Given the description of an element on the screen output the (x, y) to click on. 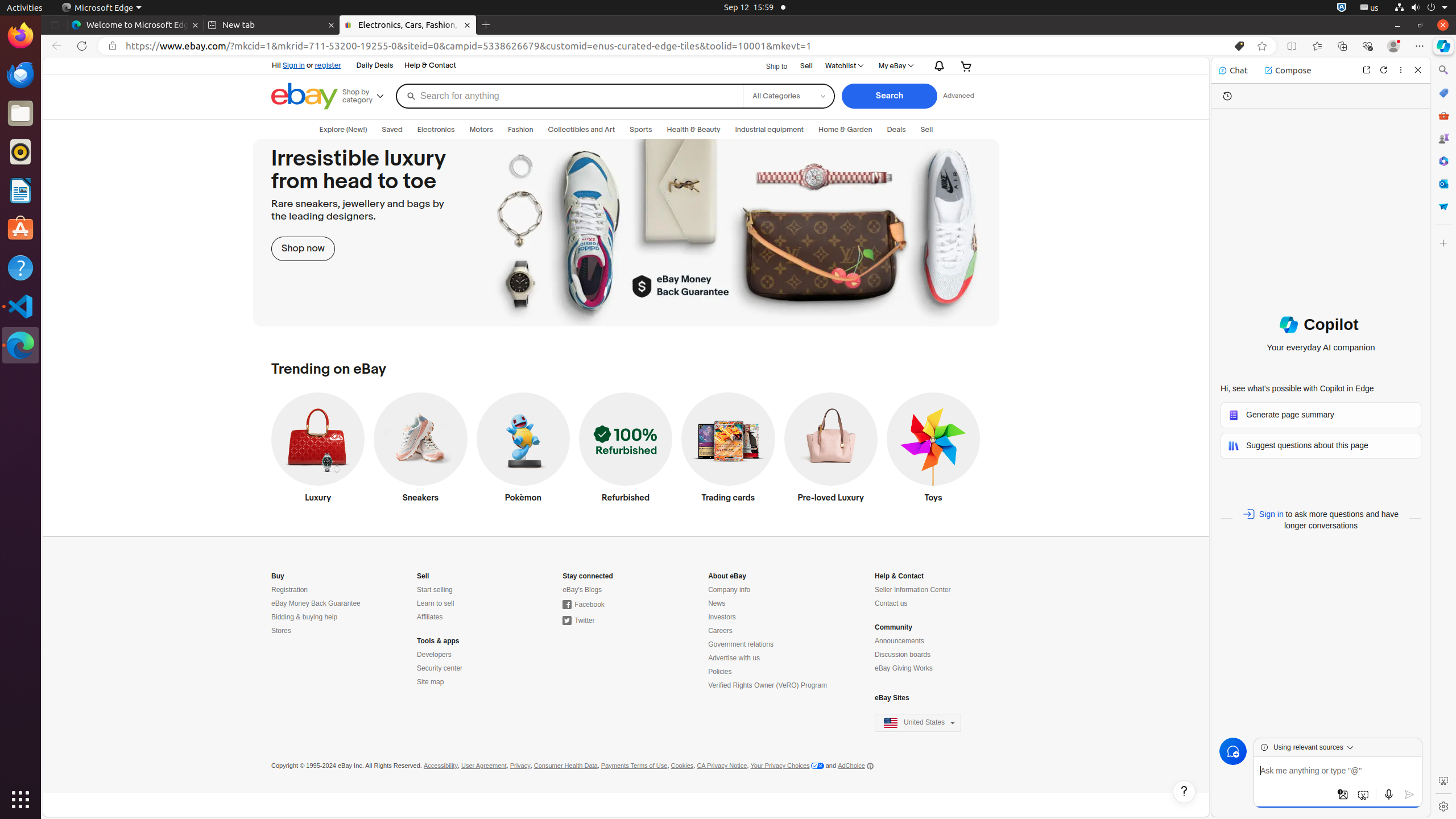
Company info Element type: link (729, 589)
Microsoft Shopping Element type: push-button (1443, 92)
Site map Element type: link (430, 681)
Toys Element type: link (933, 450)
eBay Home Element type: link (304, 95)
